Given the description of an element on the screen output the (x, y) to click on. 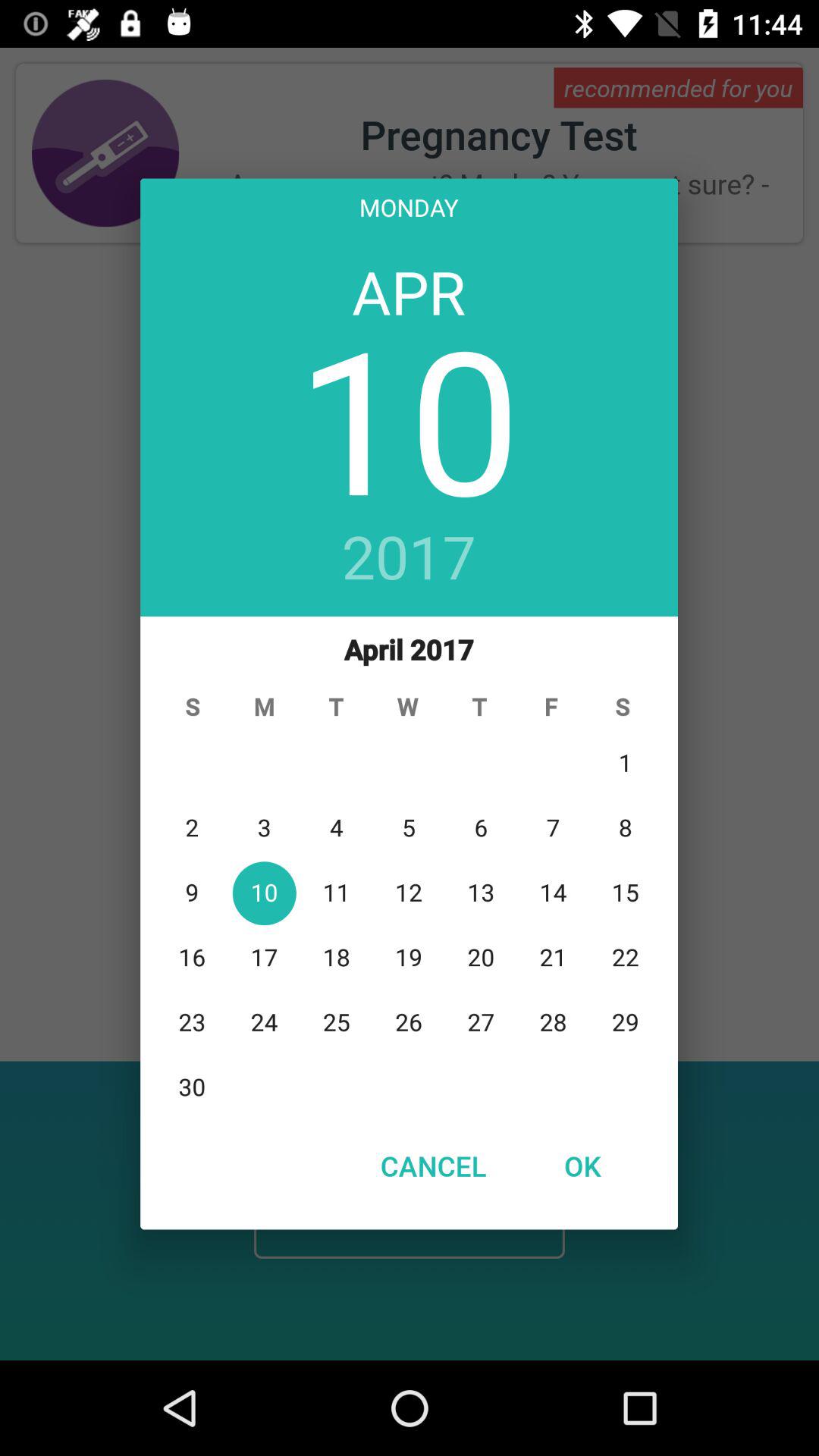
press the icon next to the cancel item (582, 1165)
